Given the description of an element on the screen output the (x, y) to click on. 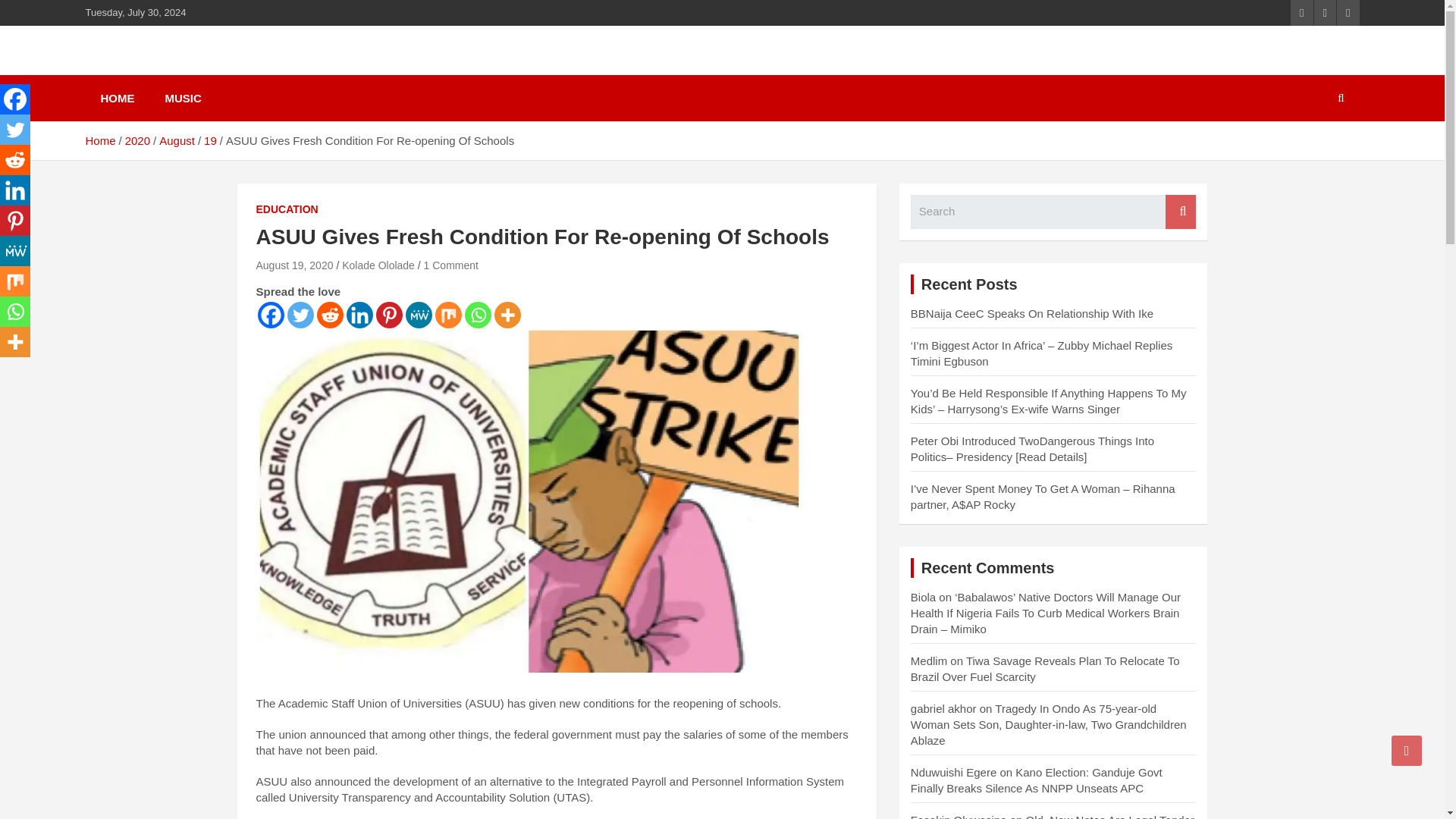
Twitter (15, 129)
Linkedin (359, 315)
Kolade Ololade (378, 265)
ASUU Gives Fresh Condition For Re-opening Of Schools (294, 265)
HOME (116, 98)
EDUCATION (287, 209)
August 19, 2020 (294, 265)
Pinterest (389, 315)
MUSIC (182, 98)
Home (99, 140)
Facebook (15, 99)
More (508, 315)
Palito Media (173, 68)
Reddit (330, 315)
Linkedin (15, 190)
